Given the description of an element on the screen output the (x, y) to click on. 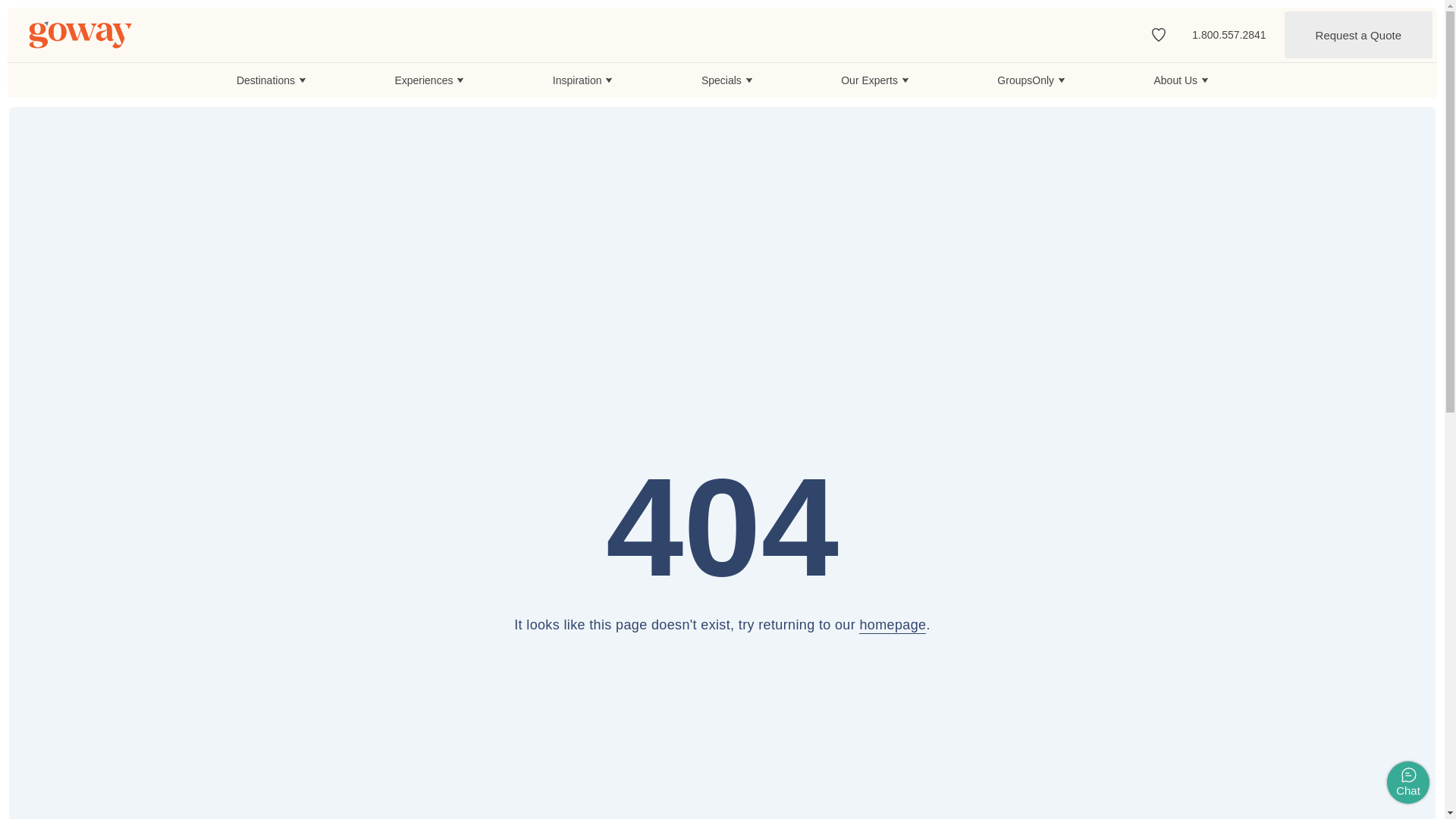
1.800.557.2841 (1228, 34)
Request a Quote (1358, 34)
Destinations (270, 80)
